Given the description of an element on the screen output the (x, y) to click on. 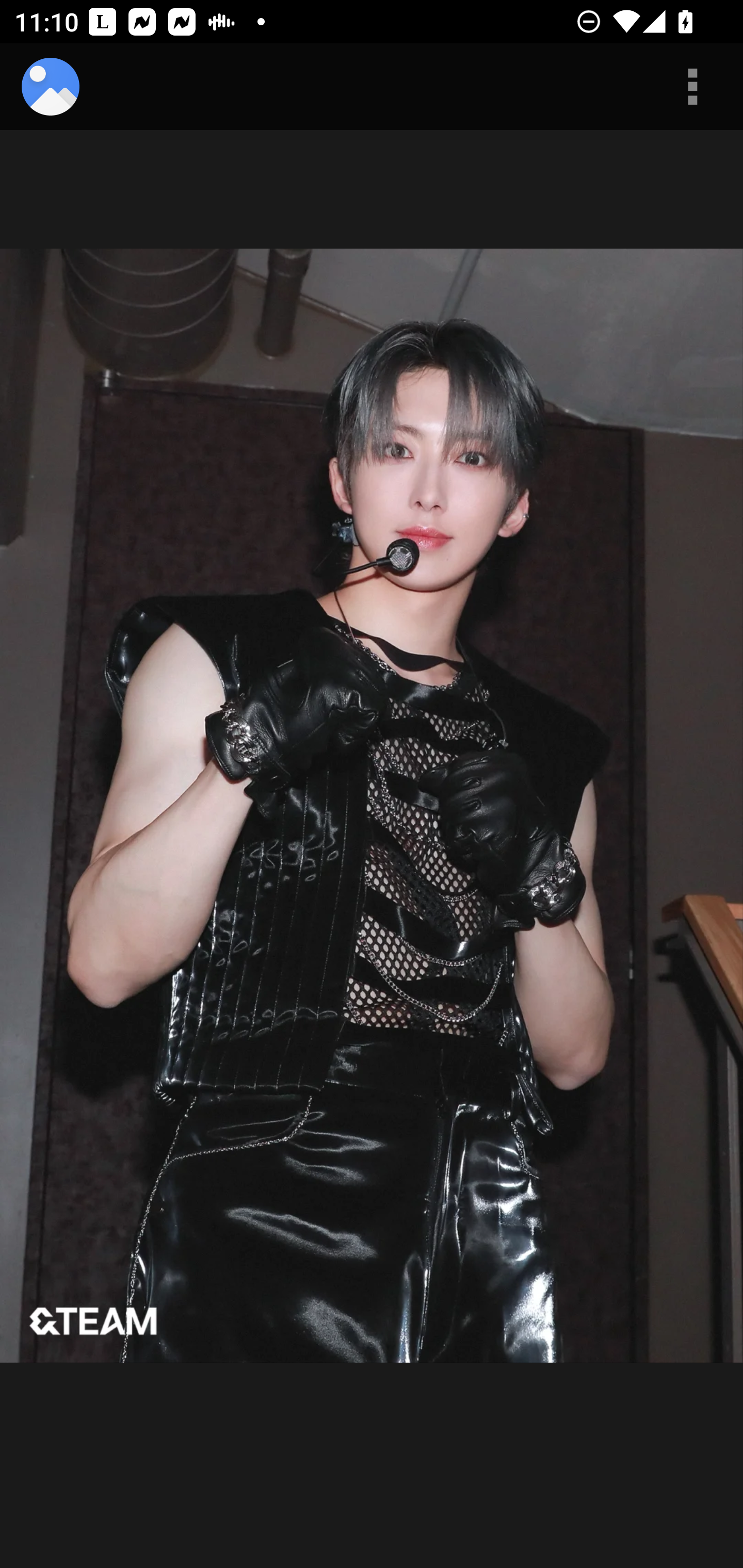
More options (692, 86)
